Given the description of an element on the screen output the (x, y) to click on. 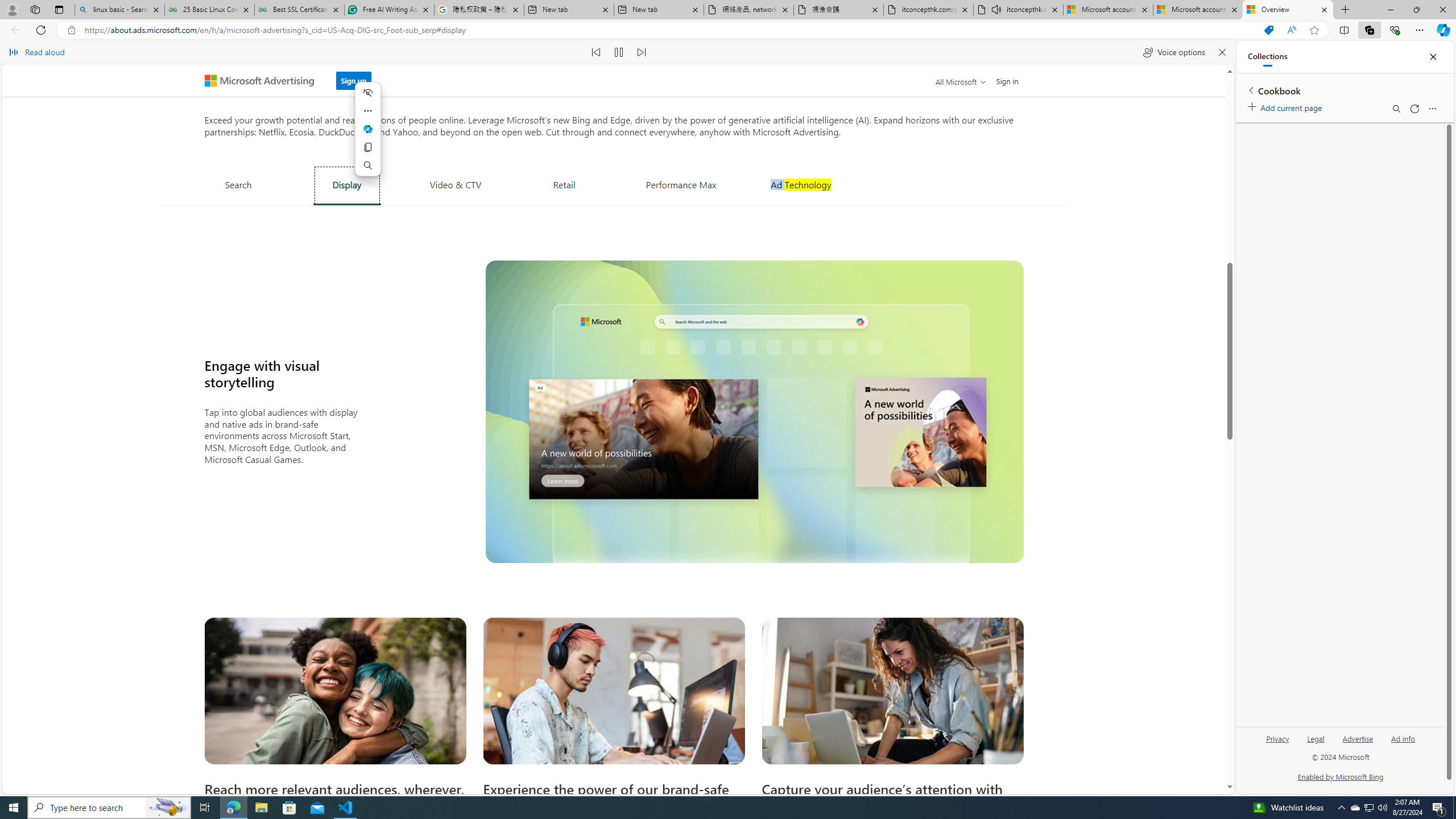
Voice options (1174, 52)
Free AI Writing Assistance for Students | Grammarly (389, 9)
Sign up (353, 76)
itconcepthk.com/projector_solutions.mp4 - Audio playing (1018, 9)
Back to list of collections (1250, 90)
Mini menu on text selection (368, 135)
Add current page (1286, 105)
